Given the description of an element on the screen output the (x, y) to click on. 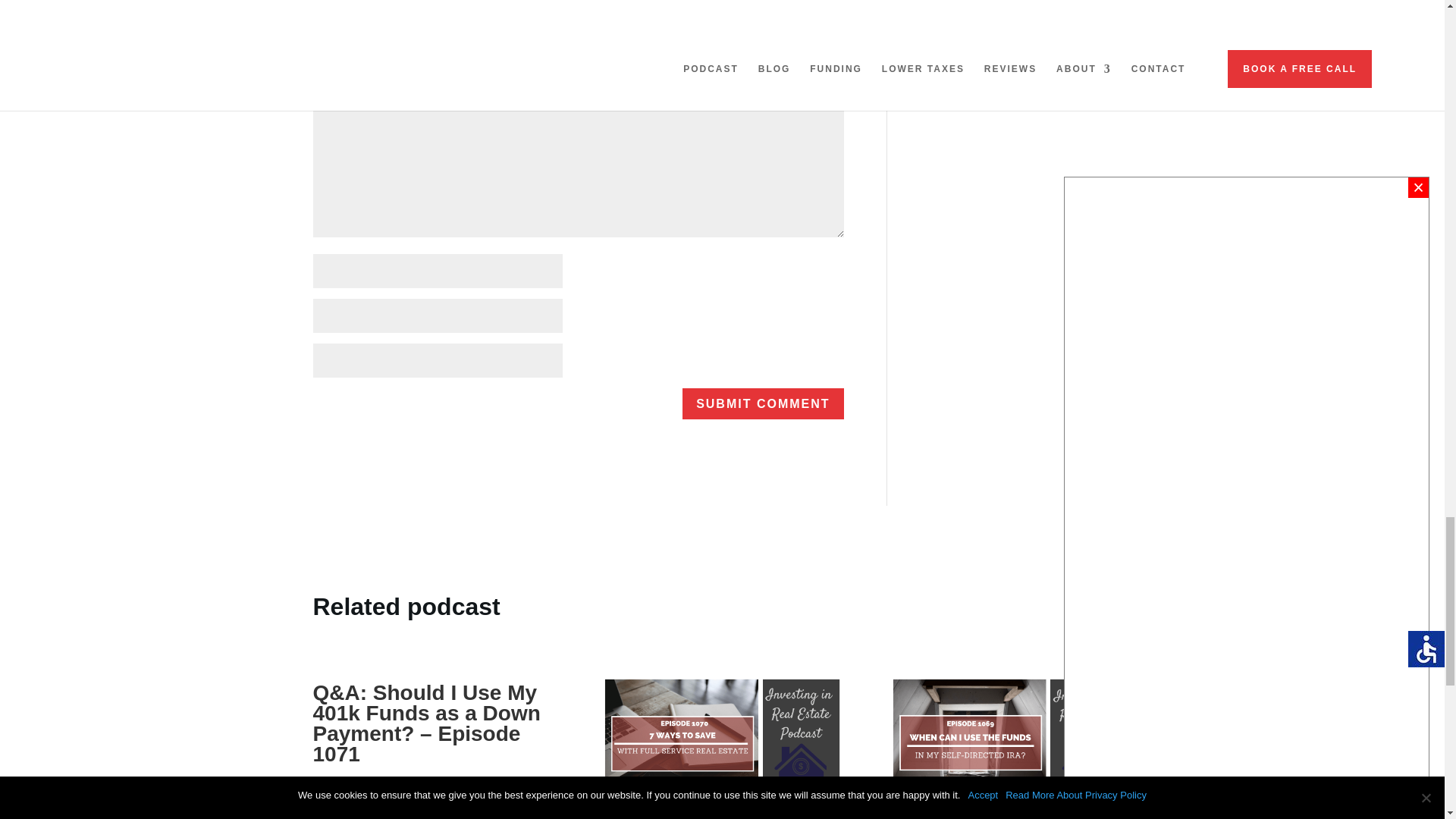
Submit Comment (762, 403)
